Given the description of an element on the screen output the (x, y) to click on. 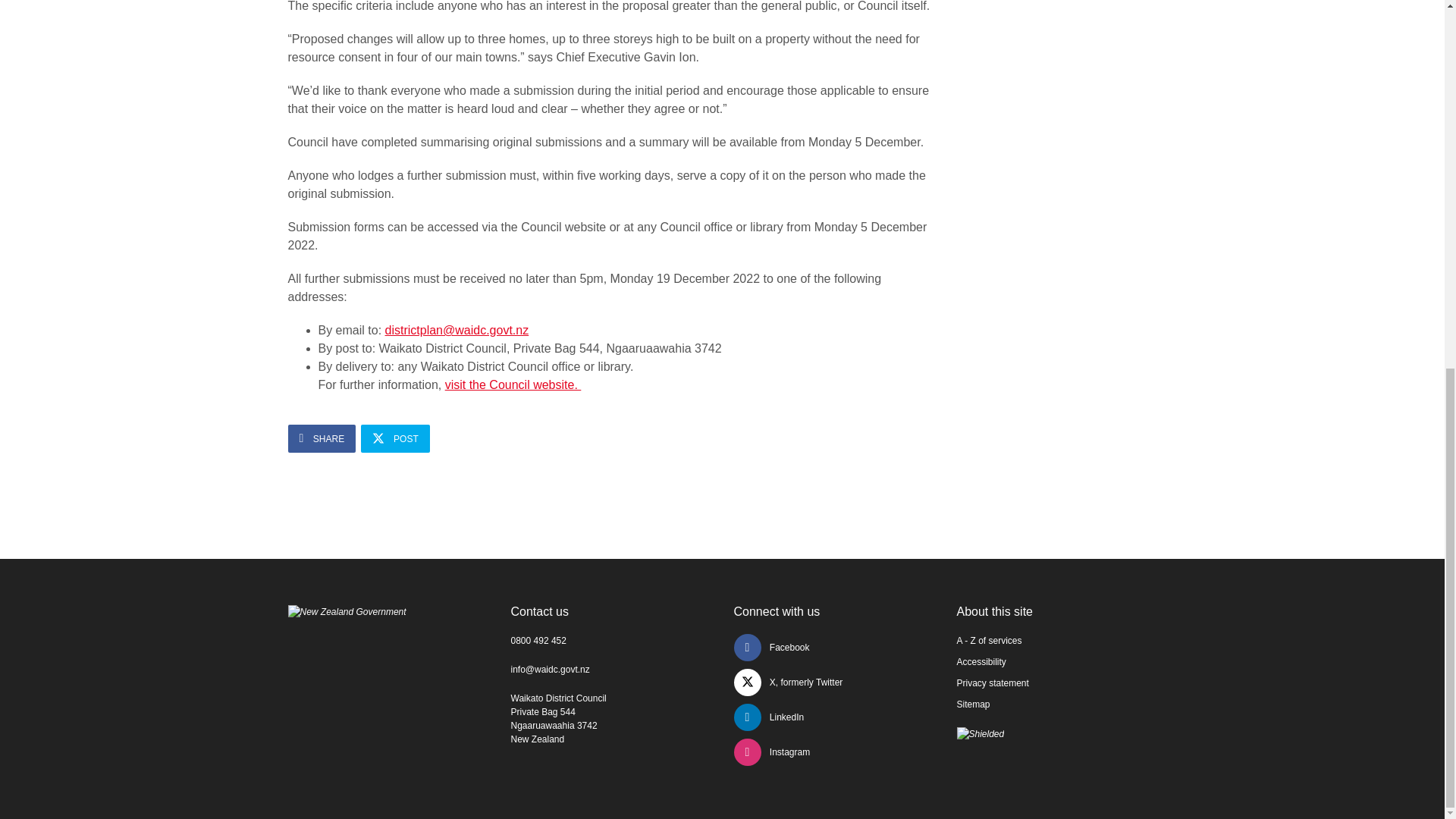
Instagram (771, 751)
About this site (994, 611)
New Zealand Government (347, 612)
Facebook (771, 647)
A - Z of services (989, 640)
X, formerly Twitter (788, 682)
visit the Council website.  (512, 384)
Facebook (771, 647)
POST (395, 438)
Instagram (771, 751)
